Given the description of an element on the screen output the (x, y) to click on. 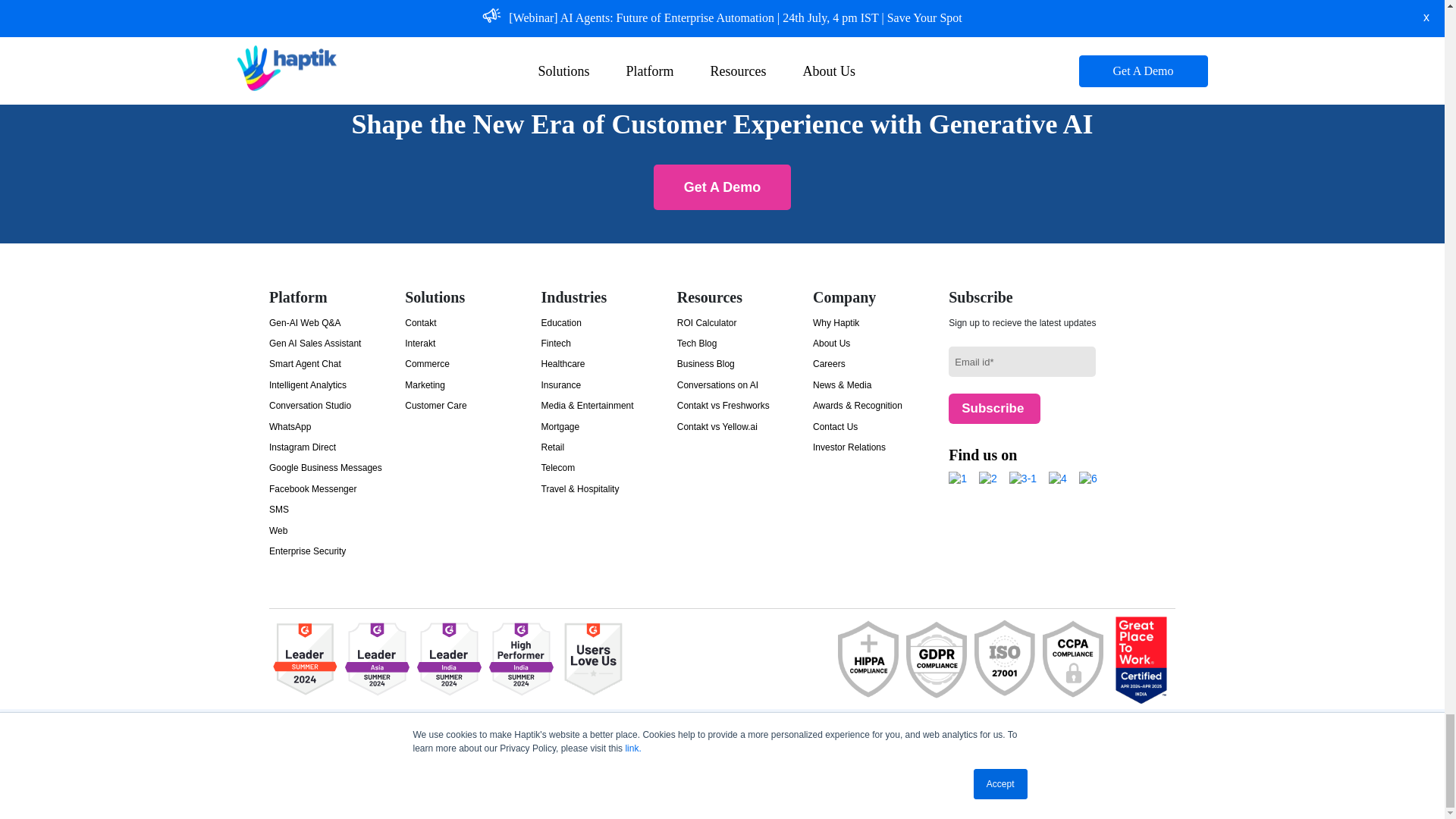
Subscribe  (995, 408)
